Given the description of an element on the screen output the (x, y) to click on. 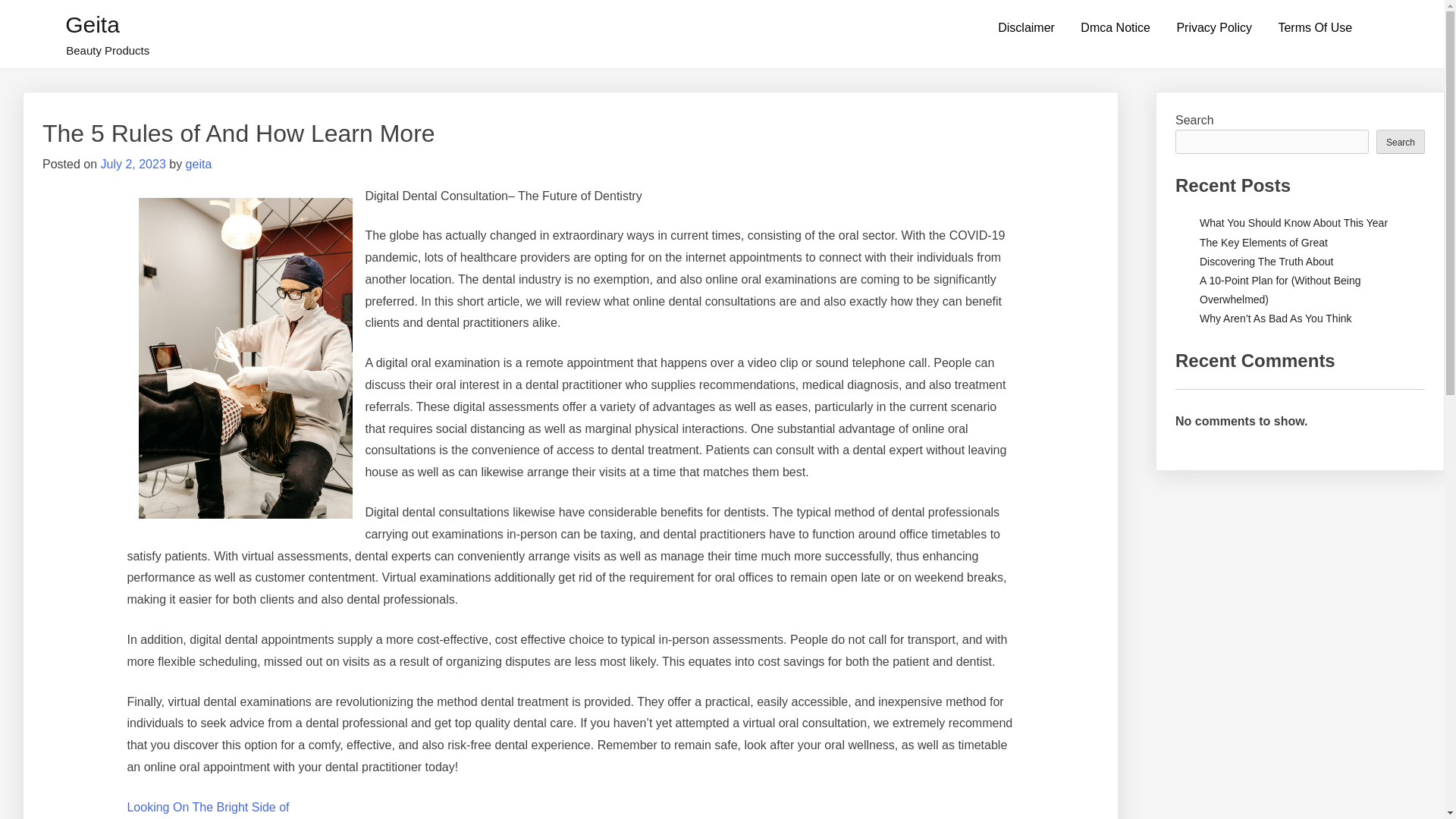
Geita (92, 24)
Privacy Policy (1213, 28)
Discovering The Truth About (1266, 261)
Search (1400, 140)
Terms Of Use (1314, 28)
What You Should Know About This Year (1293, 223)
The Key Elements of Great (1263, 242)
July 2, 2023 (132, 164)
Disclaimer (1026, 28)
Looking On The Bright Side of (207, 807)
Dmca Notice (1114, 28)
geita (199, 164)
